Given the description of an element on the screen output the (x, y) to click on. 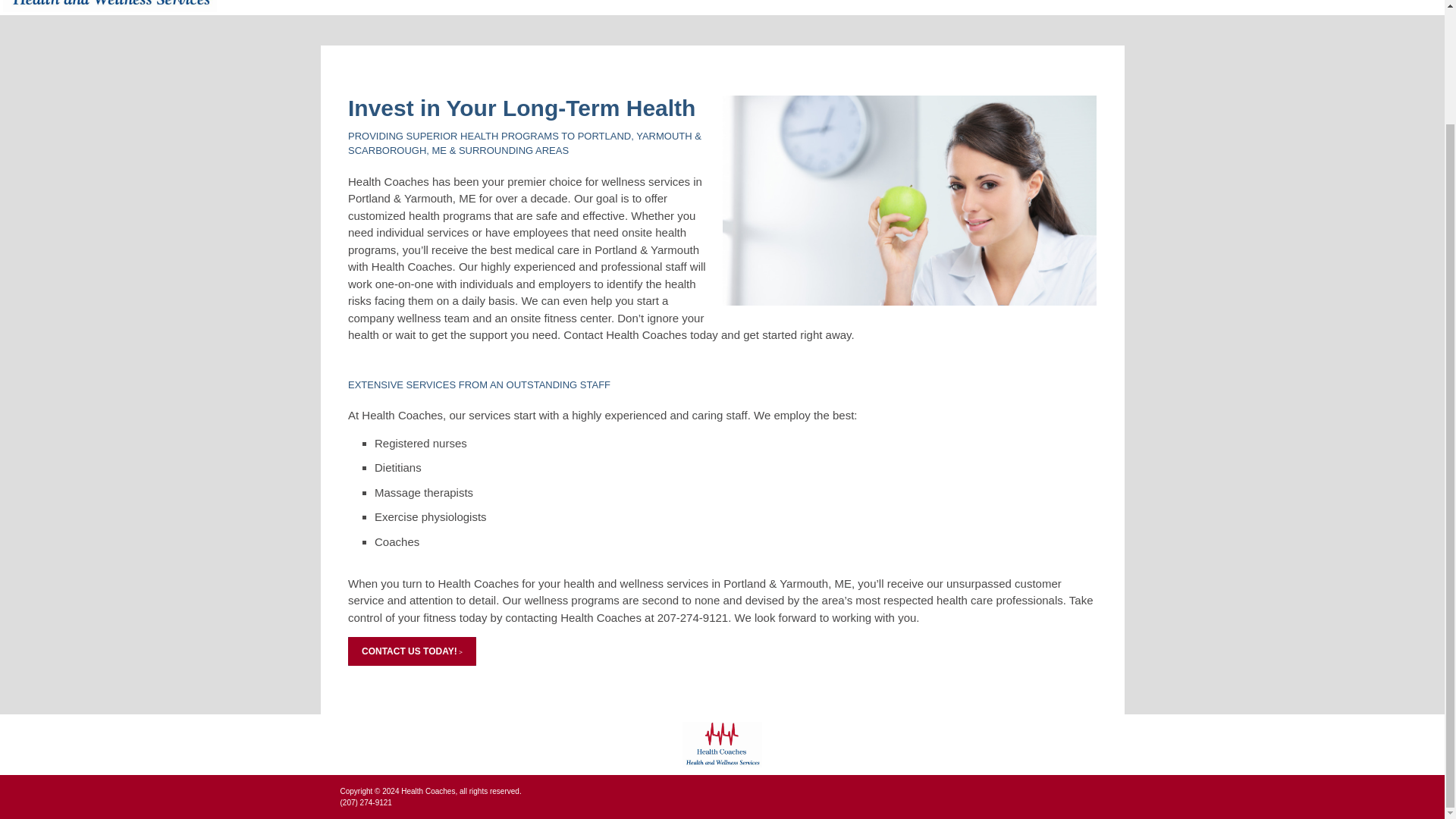
Health Coaches (722, 744)
CONTACT US TODAY! (411, 651)
